Given the description of an element on the screen output the (x, y) to click on. 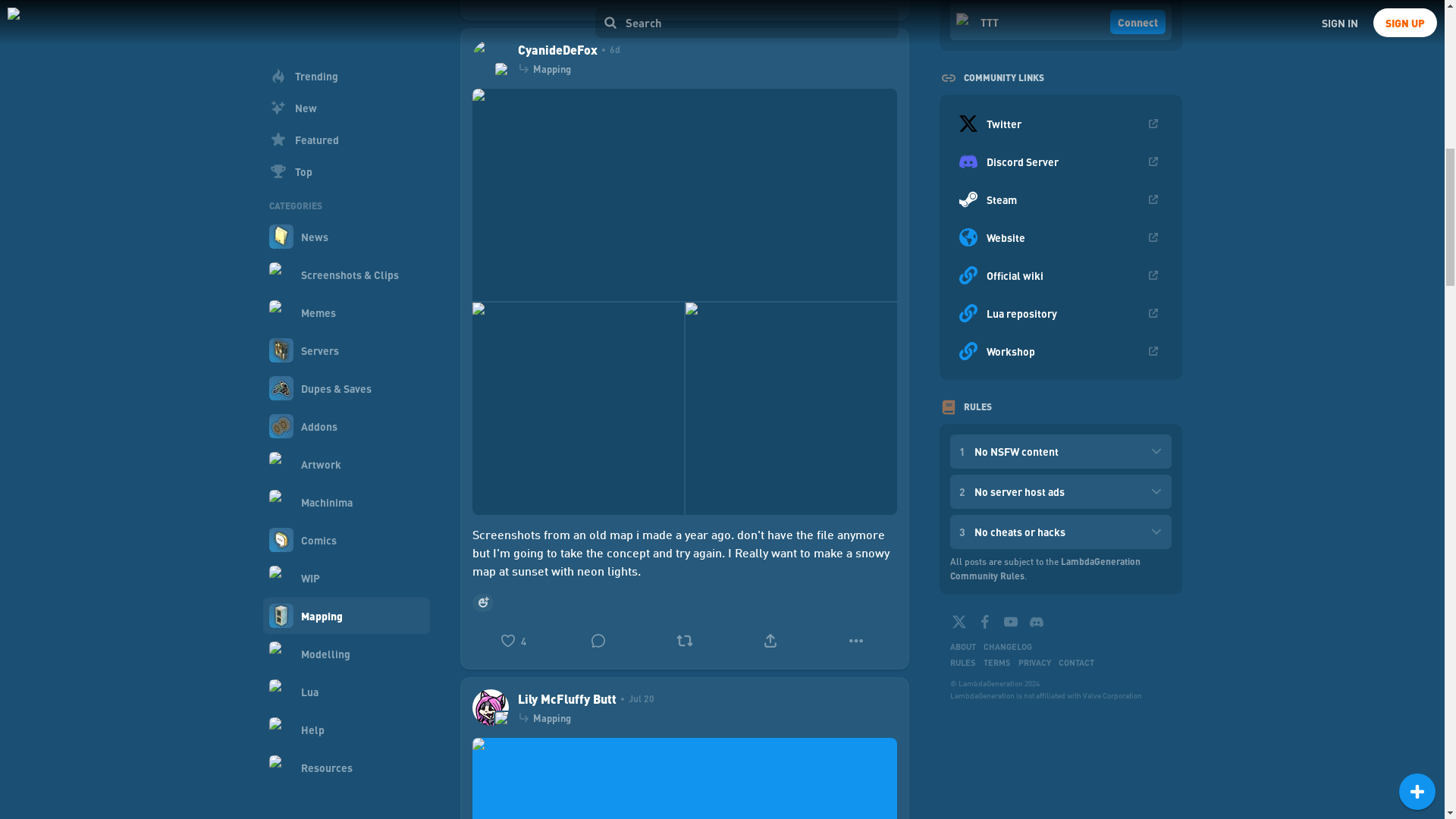
Resources (345, 156)
YouTube (1010, 621)
6d (608, 49)
Mapping (551, 68)
Discord (1035, 621)
1 (598, 4)
Modelling (345, 42)
Help (345, 117)
Lua (345, 80)
CyanideDeFox (556, 49)
Mapping (345, 11)
Twitter (958, 621)
Facebook (983, 621)
